Given the description of an element on the screen output the (x, y) to click on. 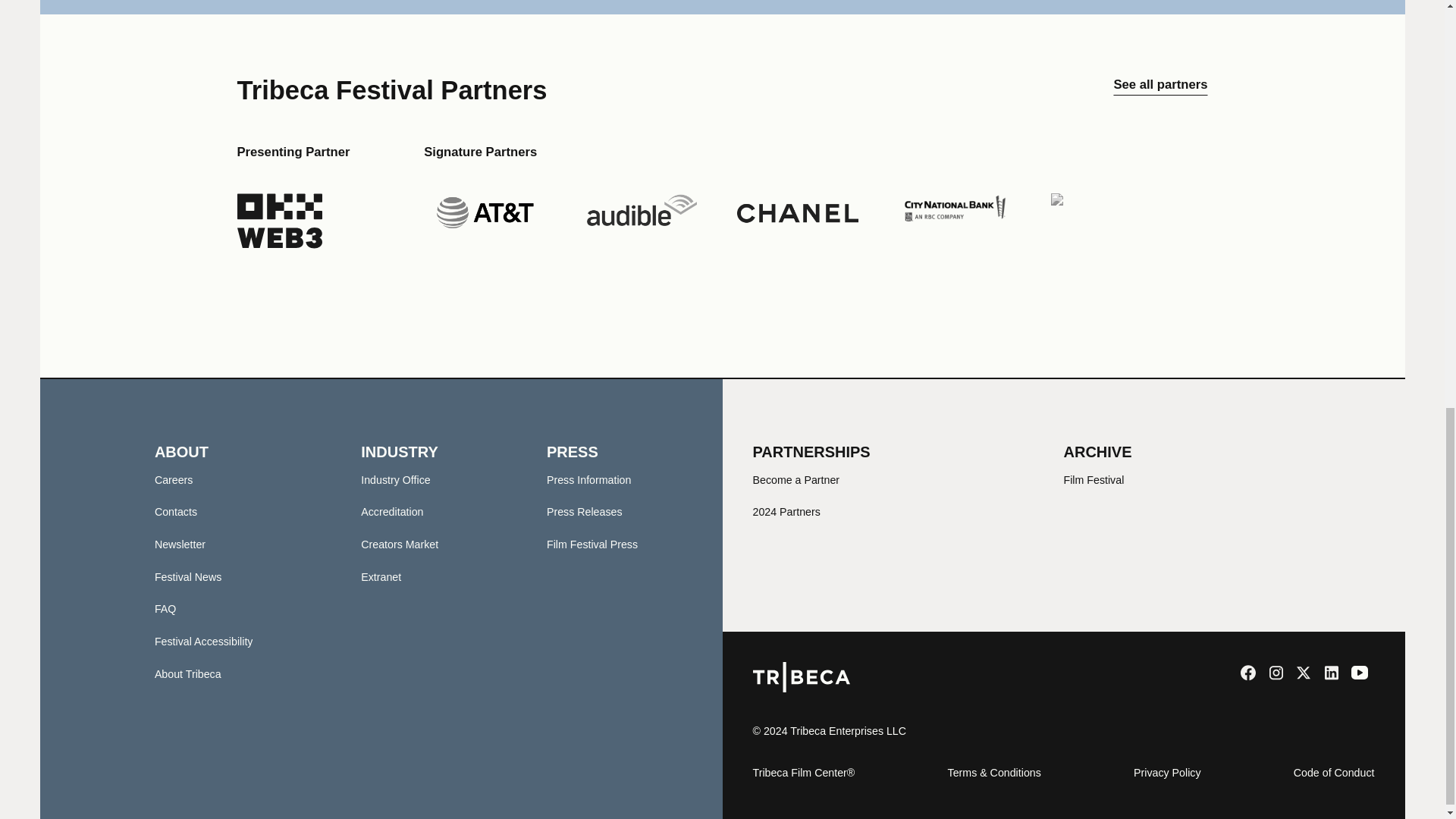
See all partners (1160, 90)
Festival News (188, 576)
Newsletter (179, 544)
Industry Office (395, 480)
Festival Accessibility (203, 641)
Careers (173, 480)
About Tribeca (187, 674)
Contacts (175, 511)
FAQ (165, 608)
Creators Market (399, 544)
Accreditation (392, 511)
